Given the description of an element on the screen output the (x, y) to click on. 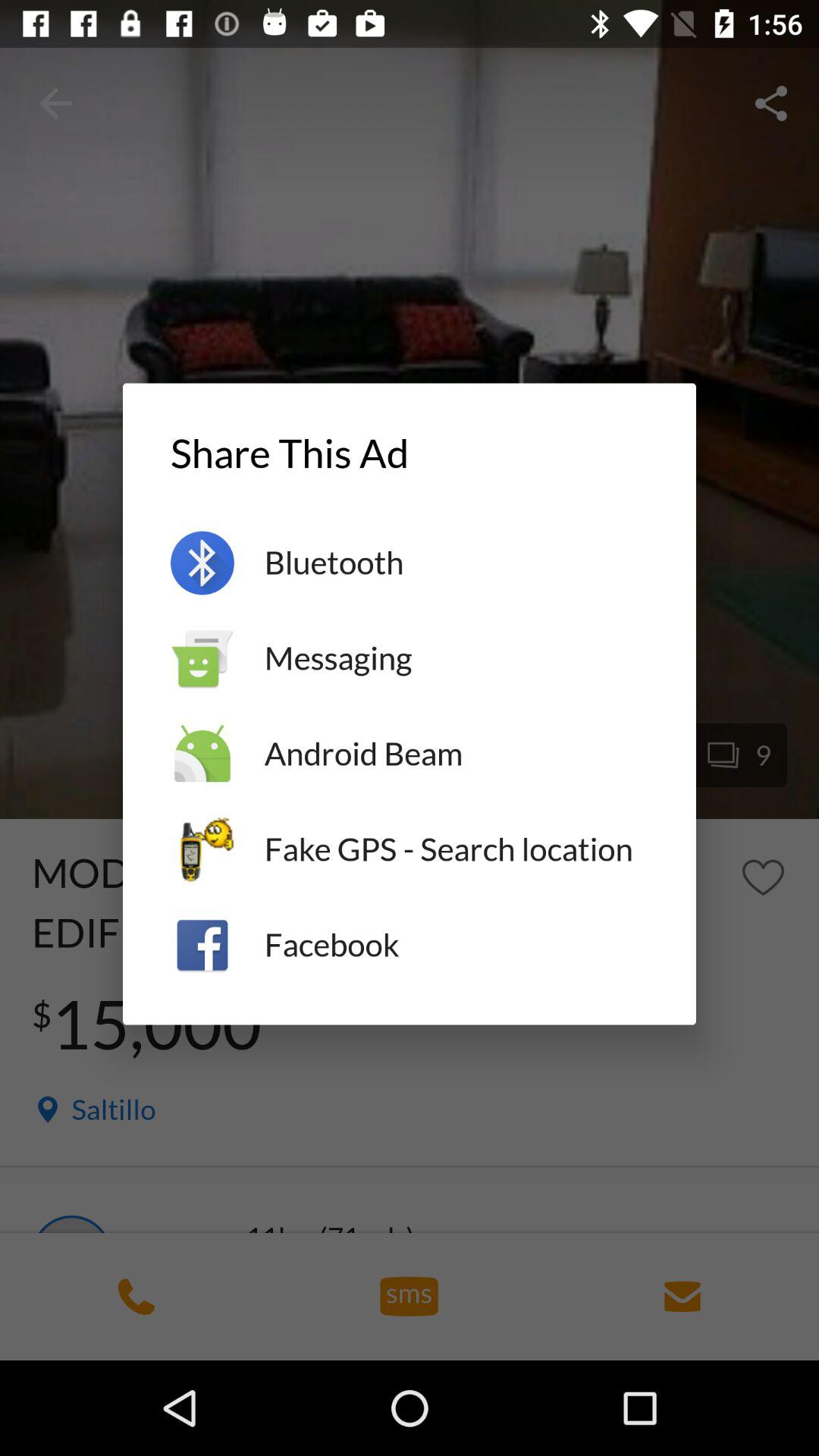
swipe until the facebook (456, 944)
